Given the description of an element on the screen output the (x, y) to click on. 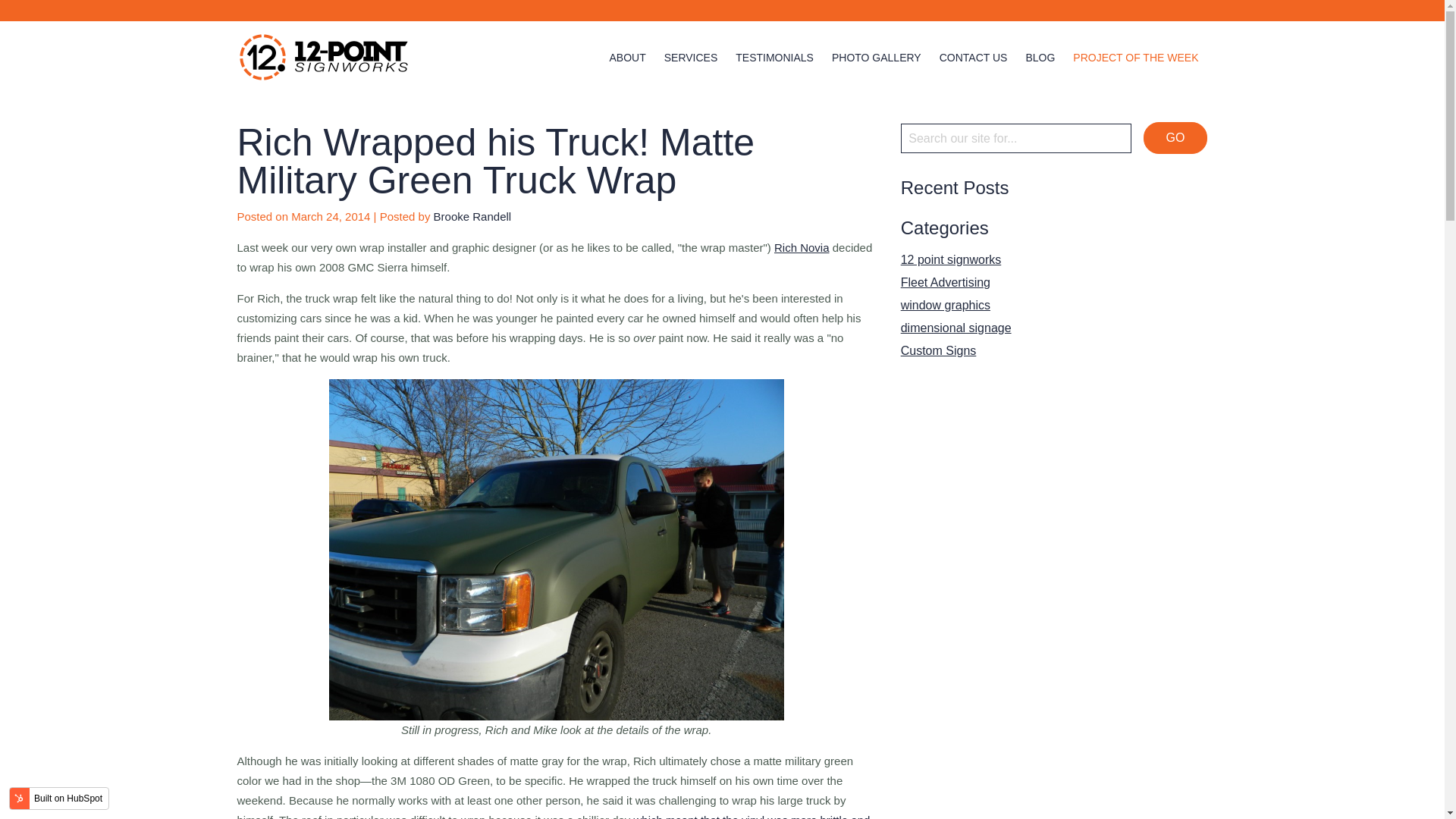
BLOG (1039, 57)
Rich Novia (801, 246)
PHOTO GALLERY (876, 57)
PROJECT OF THE WEEK (1135, 57)
ABOUT (626, 57)
logo.png (322, 57)
CONTACT US (973, 57)
TESTIMONIALS (774, 57)
SERVICES (690, 57)
